Given the description of an element on the screen output the (x, y) to click on. 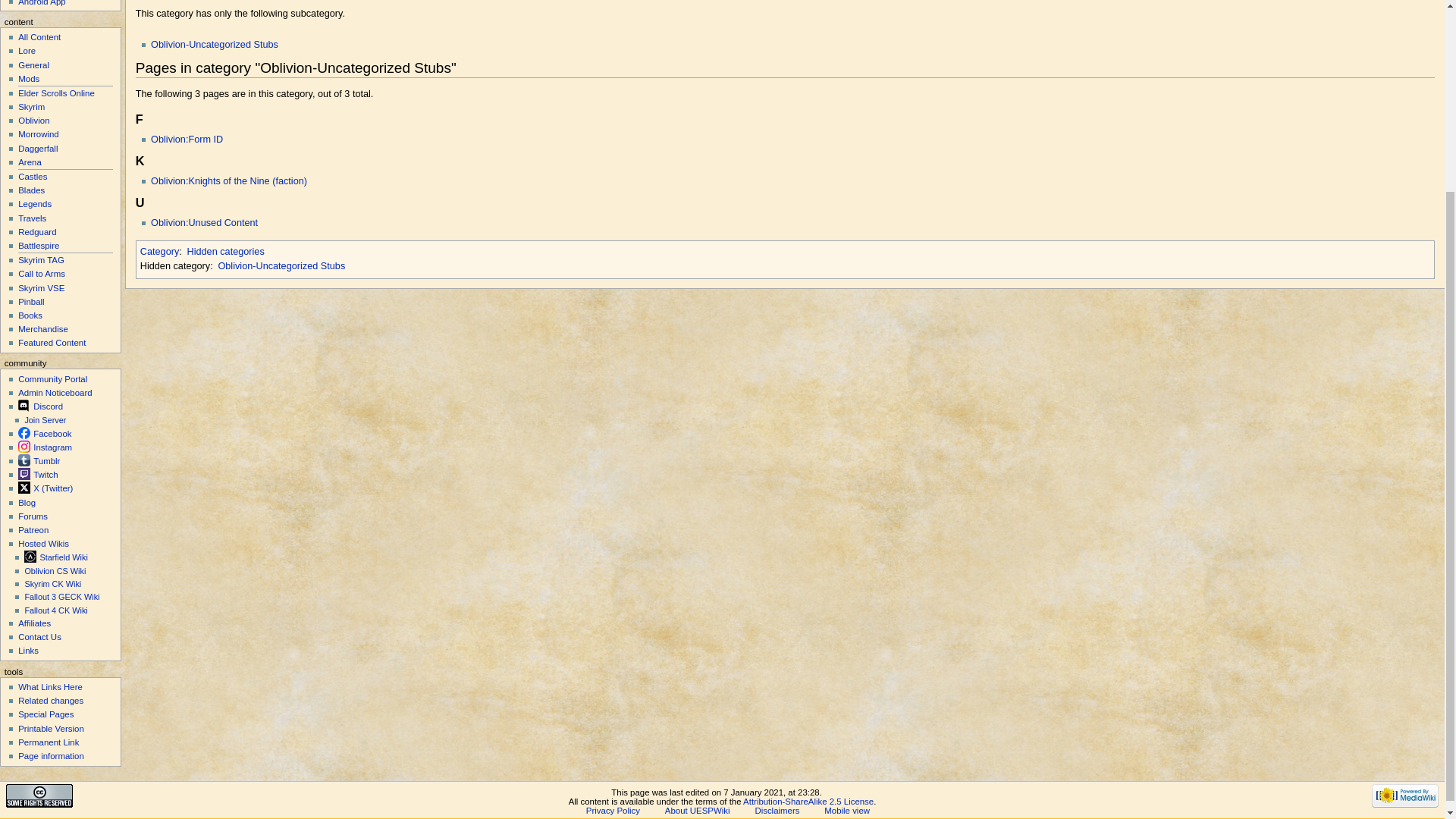
Oblivion:Form ID (186, 139)
Category (159, 251)
Oblivion-Uncategorized Stubs (214, 44)
Oblivion-Uncategorized Stubs (280, 266)
Special:Categories (159, 251)
Oblivion (33, 120)
Hidden categories (224, 251)
Oblivion:Form ID (186, 139)
Elder Scrolls Online (55, 92)
Oblivion:Unused Content (204, 222)
Lore (25, 50)
Oblivion:Unused Content (204, 222)
Mods (28, 78)
Category:Hidden categories (224, 251)
All Content (39, 36)
